Given the description of an element on the screen output the (x, y) to click on. 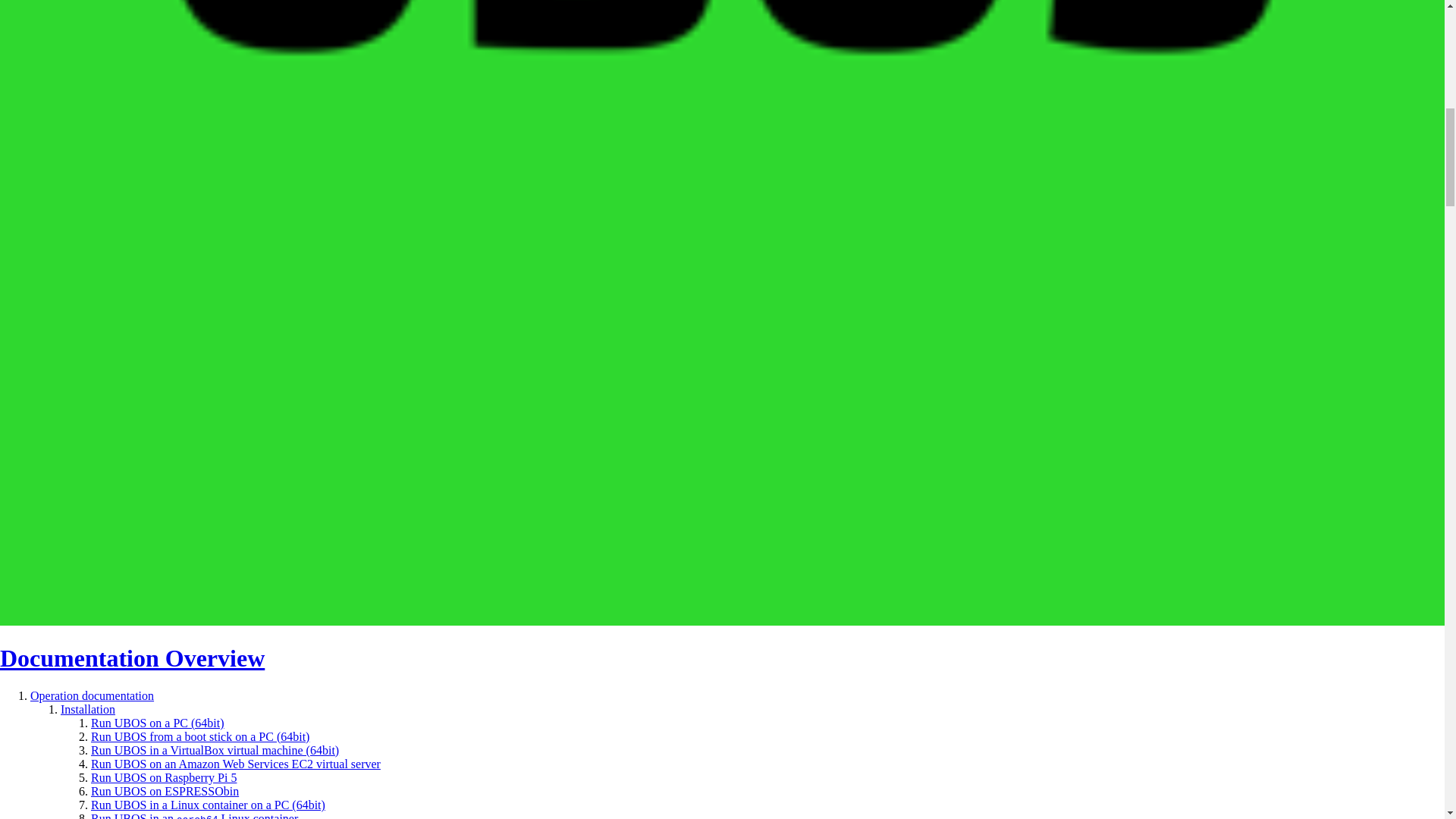
Run UBOS on Raspberry Pi 5 (162, 777)
Run UBOS on ESPRESSObin (164, 790)
Run UBOS on an Amazon Web Services EC2 virtual server (235, 763)
Documentation Overview (132, 657)
Operation documentation (92, 695)
Installation (88, 708)
Run UBOS in an aarch64 Linux container (194, 815)
